Given the description of an element on the screen output the (x, y) to click on. 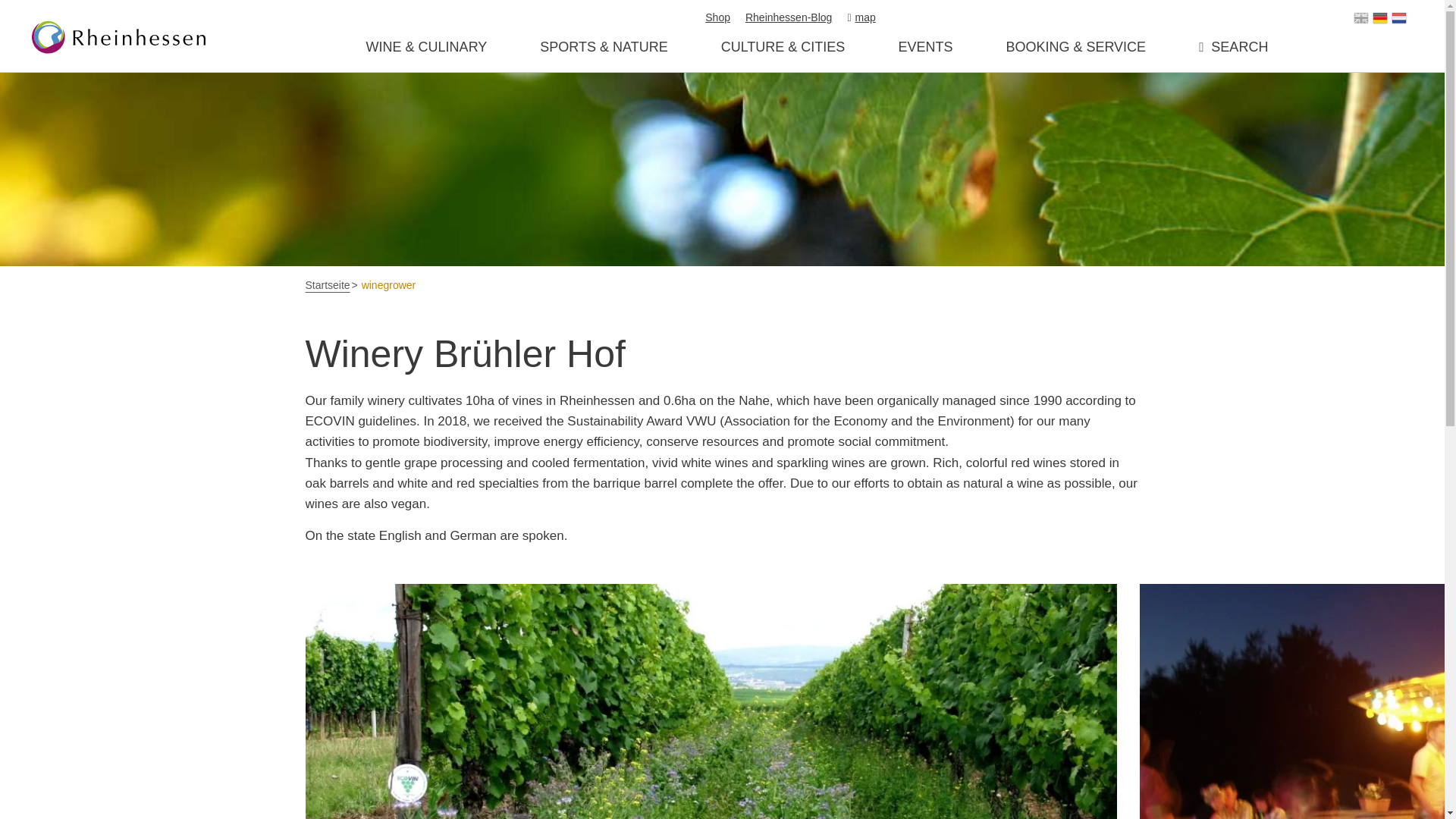
Dutch (1398, 18)
German (1380, 18)
